Given the description of an element on the screen output the (x, y) to click on. 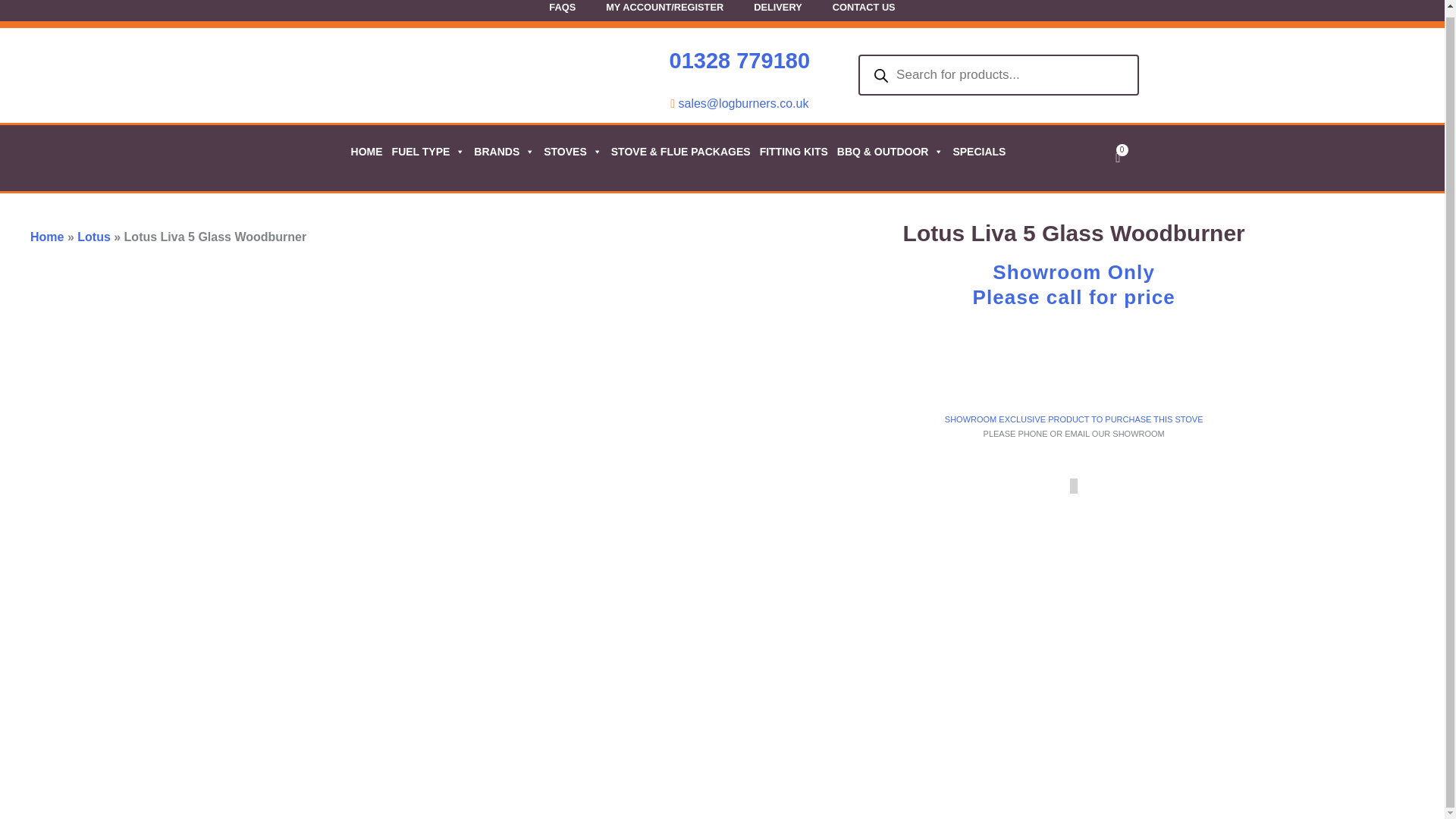
HOME (365, 151)
FAQS (562, 12)
01328 779180 (739, 60)
FUEL TYPE (427, 151)
DELIVERY (777, 12)
BRANDS (502, 151)
CONTACT US (863, 12)
View brand (1265, 368)
